Given the description of an element on the screen output the (x, y) to click on. 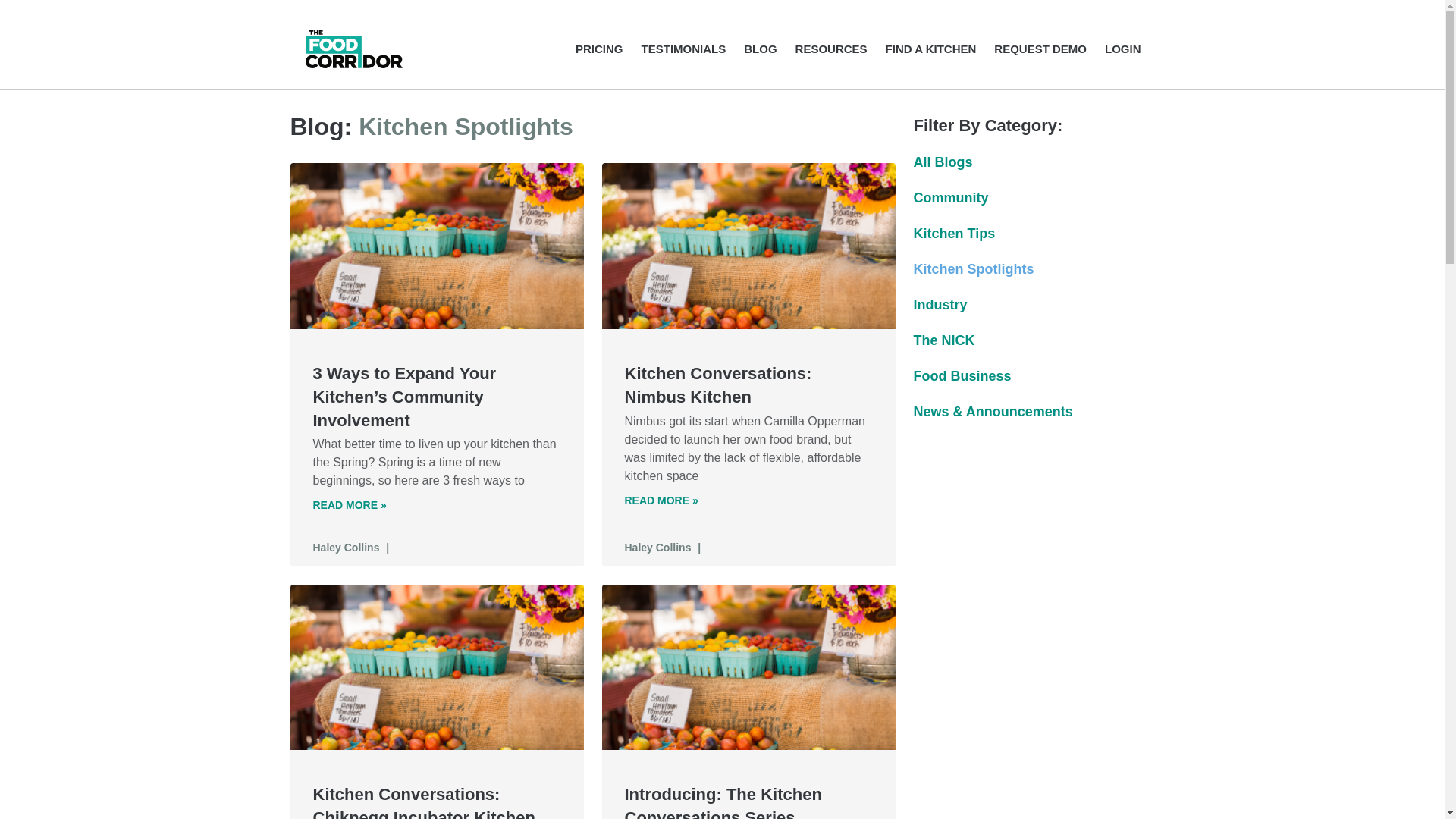
REQUEST DEMO (1040, 48)
LOGIN (1123, 48)
TESTIMONIALS (684, 48)
PRICING (599, 48)
FIND A KITCHEN (930, 48)
RESOURCES (830, 48)
Kitchen Conversations: Chiknegg Incubator Kitchen (423, 801)
Introducing: The Kitchen Conversations Series (723, 801)
Kitchen Conversations: Nimbus Kitchen (718, 384)
BLOG (760, 48)
